Given the description of an element on the screen output the (x, y) to click on. 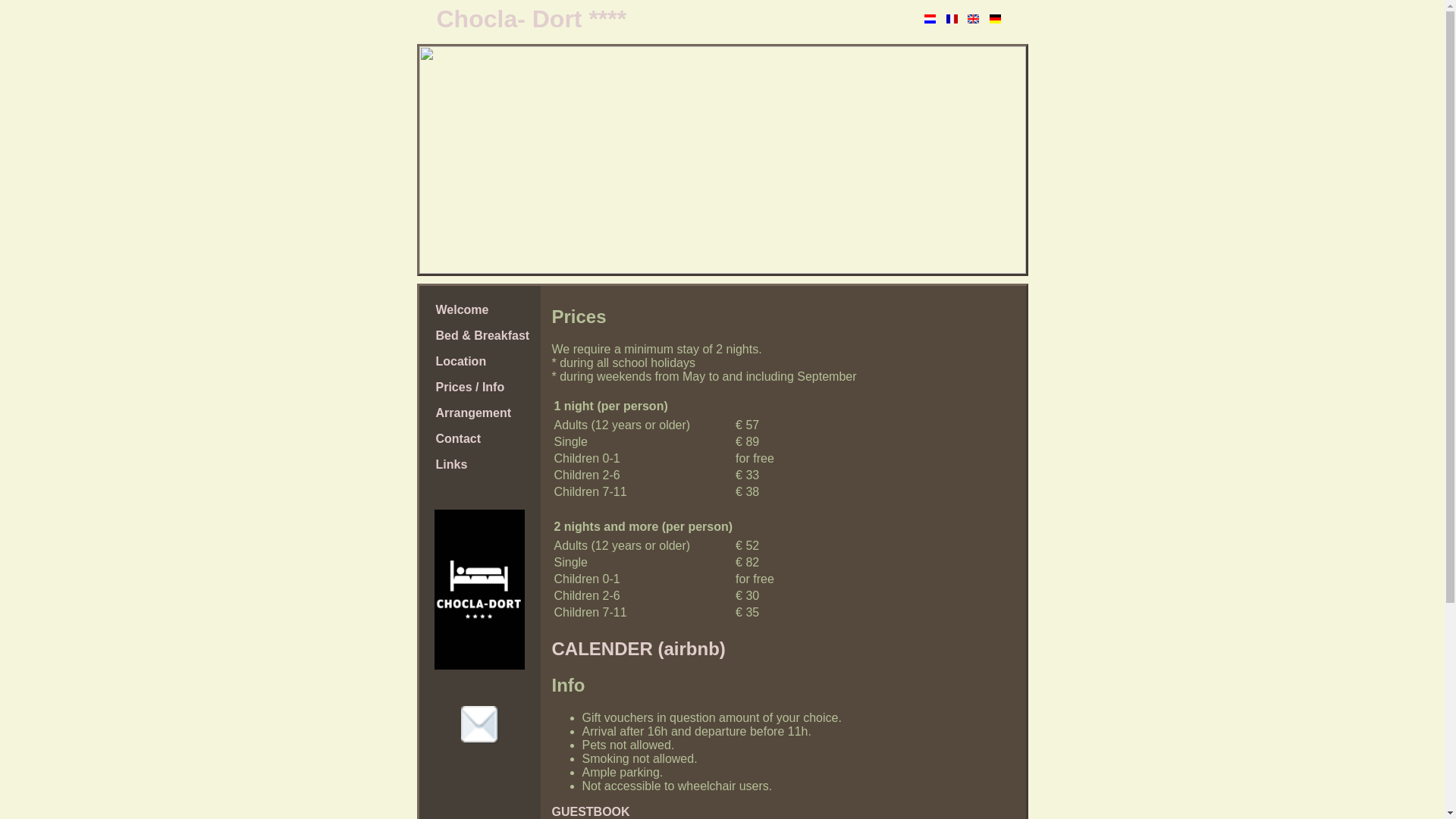
CALENDER (airbnb) Element type: text (638, 648)
tarieven Element type: hover (479, 589)
Links Element type: text (478, 464)
Arrangement Element type: text (478, 413)
Contact Element type: text (478, 438)
Bed & Breakfast Element type: text (478, 335)
e-mail Element type: hover (479, 724)
Welcome Element type: text (478, 310)
Prices / Info Element type: text (478, 387)
Location Element type: text (478, 361)
GUESTBOOK Element type: text (591, 811)
Chocla- Dort **** Element type: text (636, 19)
